Given the description of an element on the screen output the (x, y) to click on. 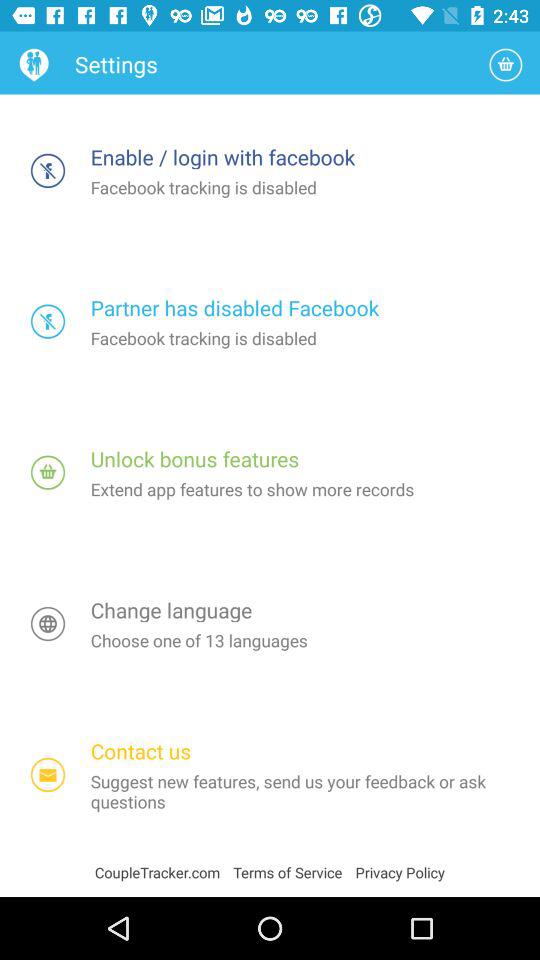
select contacts (47, 774)
